Given the description of an element on the screen output the (x, y) to click on. 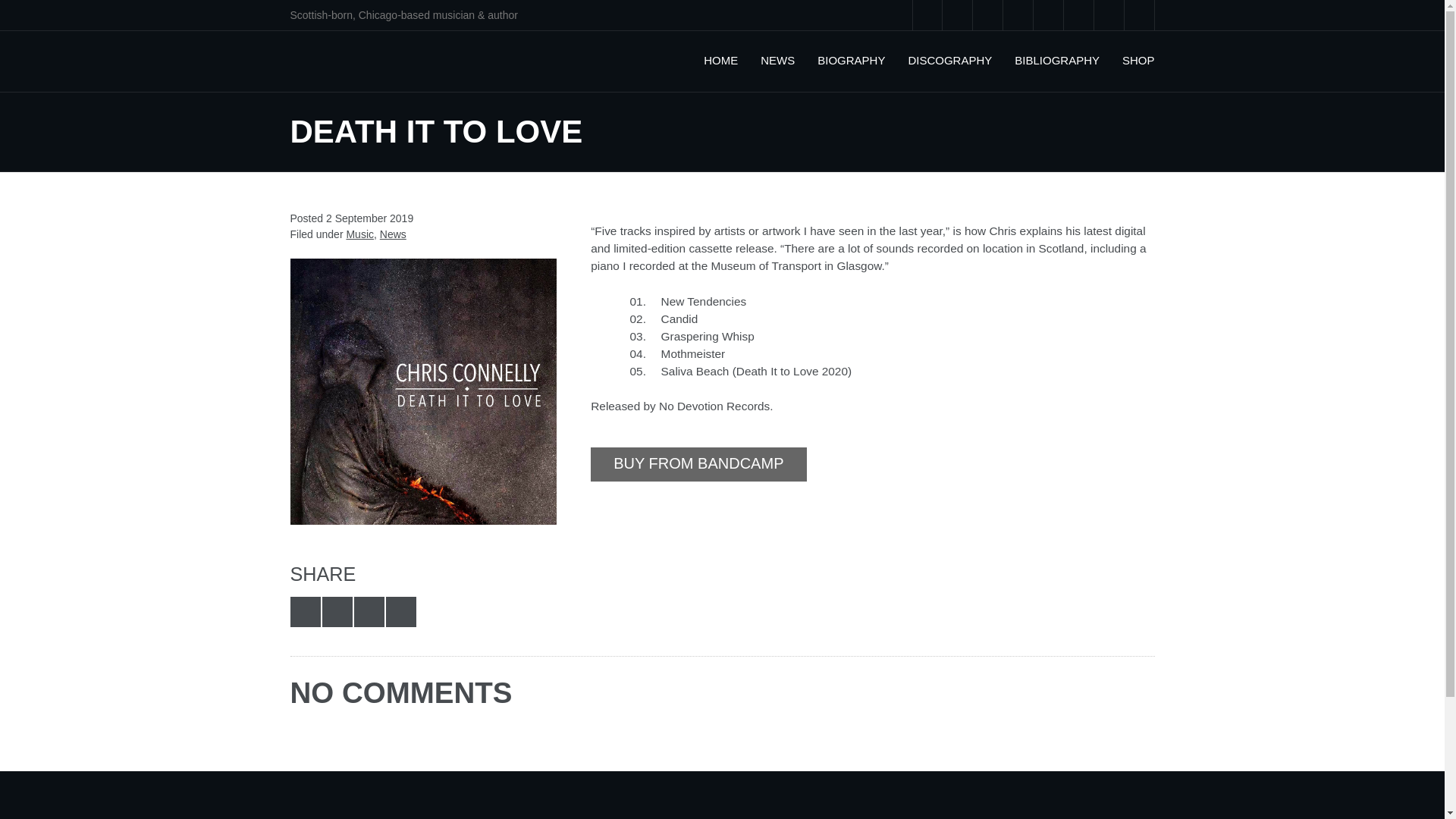
BIOGRAPHY (850, 61)
Facebook (957, 15)
Twitter (926, 15)
Amazon Music (1108, 15)
News (393, 234)
SHOP (1138, 61)
BUY FROM BANDCAMP (698, 464)
HOME (720, 61)
Flickr (987, 15)
Amazon Books (1139, 15)
Share on Facebook (336, 612)
NEWS (777, 61)
Vine (1017, 15)
Tweet This (304, 612)
Pin it (399, 612)
